Given the description of an element on the screen output the (x, y) to click on. 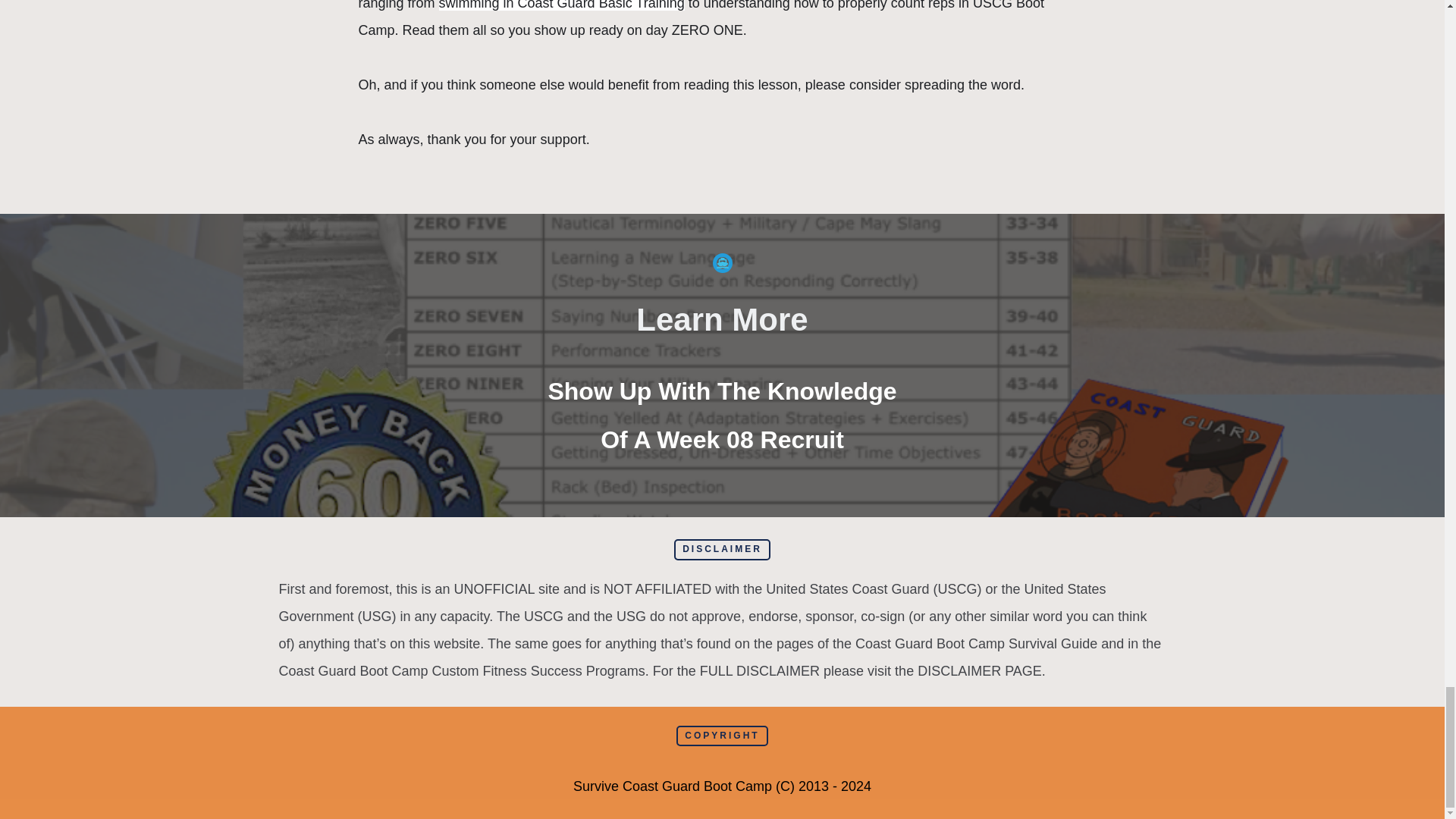
DISCLAIMER (722, 549)
COPYRIGHT (722, 735)
how to properly count reps in USCG Boot Camp (702, 18)
swimming in Coast Guard Basic Training (561, 5)
